Given the description of an element on the screen output the (x, y) to click on. 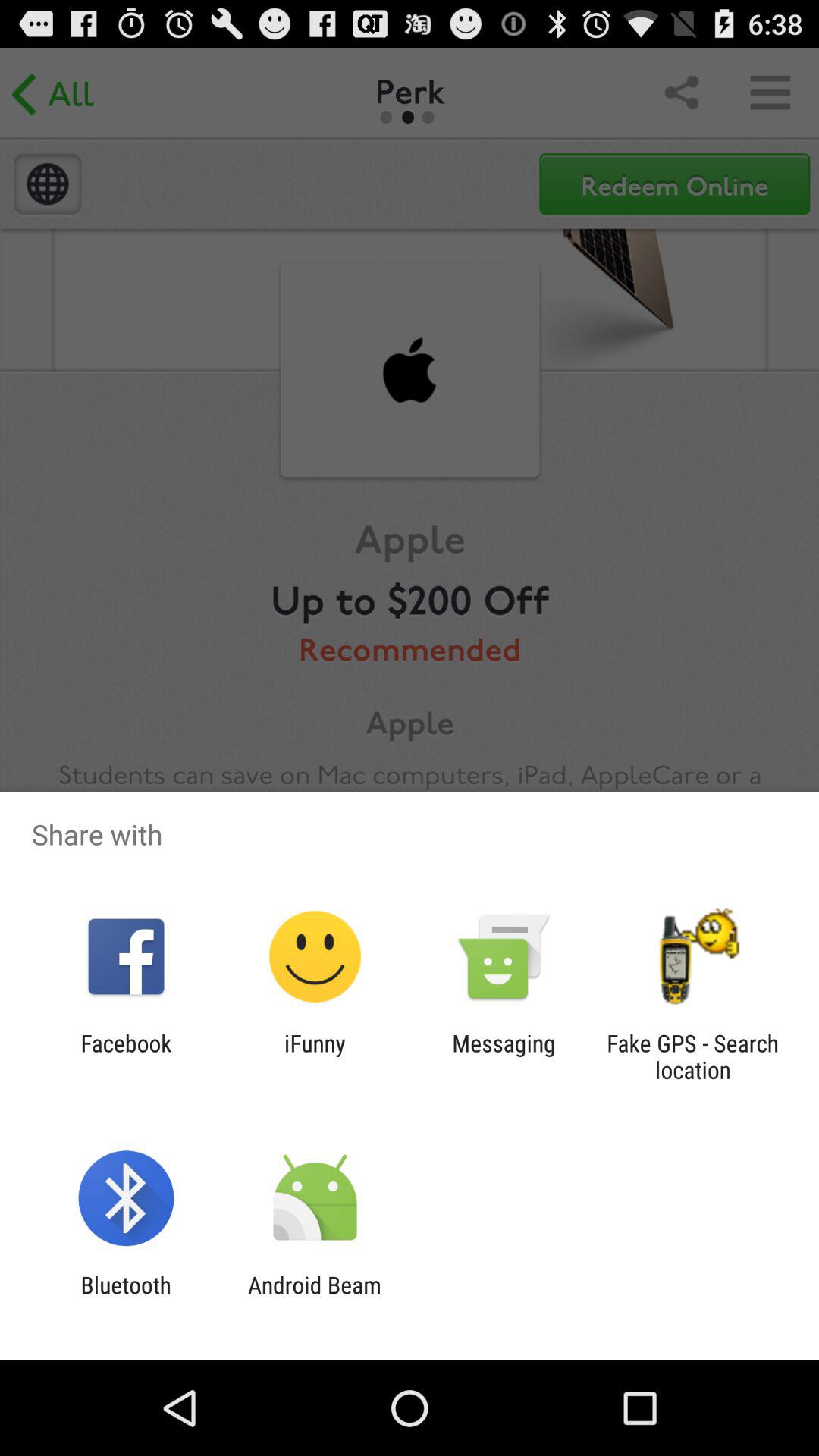
select the icon to the left of android beam (125, 1298)
